Given the description of an element on the screen output the (x, y) to click on. 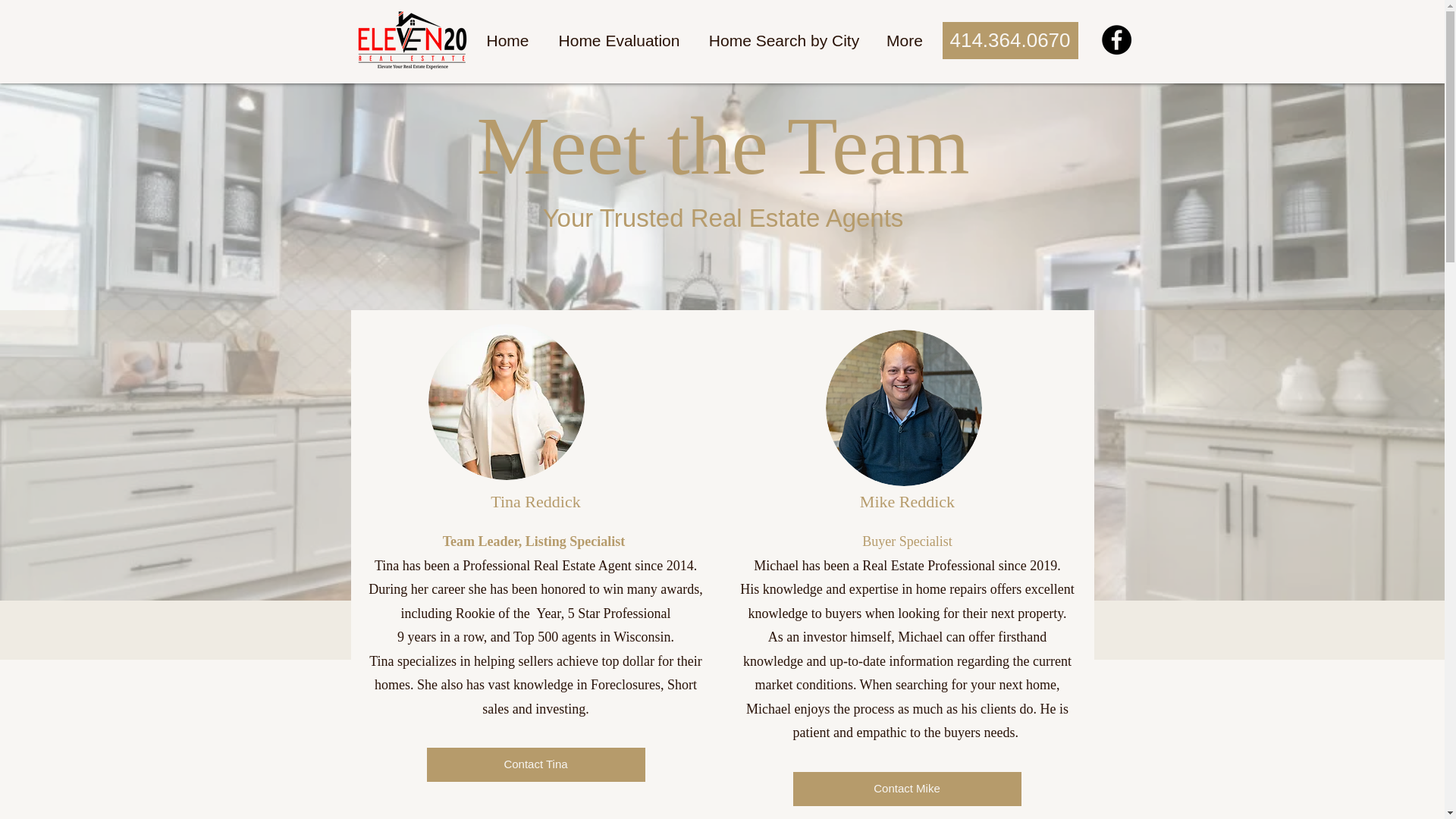
Contact Tina (535, 764)
Home Search by City (783, 40)
Contact Mike (907, 788)
Home (507, 40)
Home Evaluation (618, 40)
414.364.0670 (1009, 40)
